Given the description of an element on the screen output the (x, y) to click on. 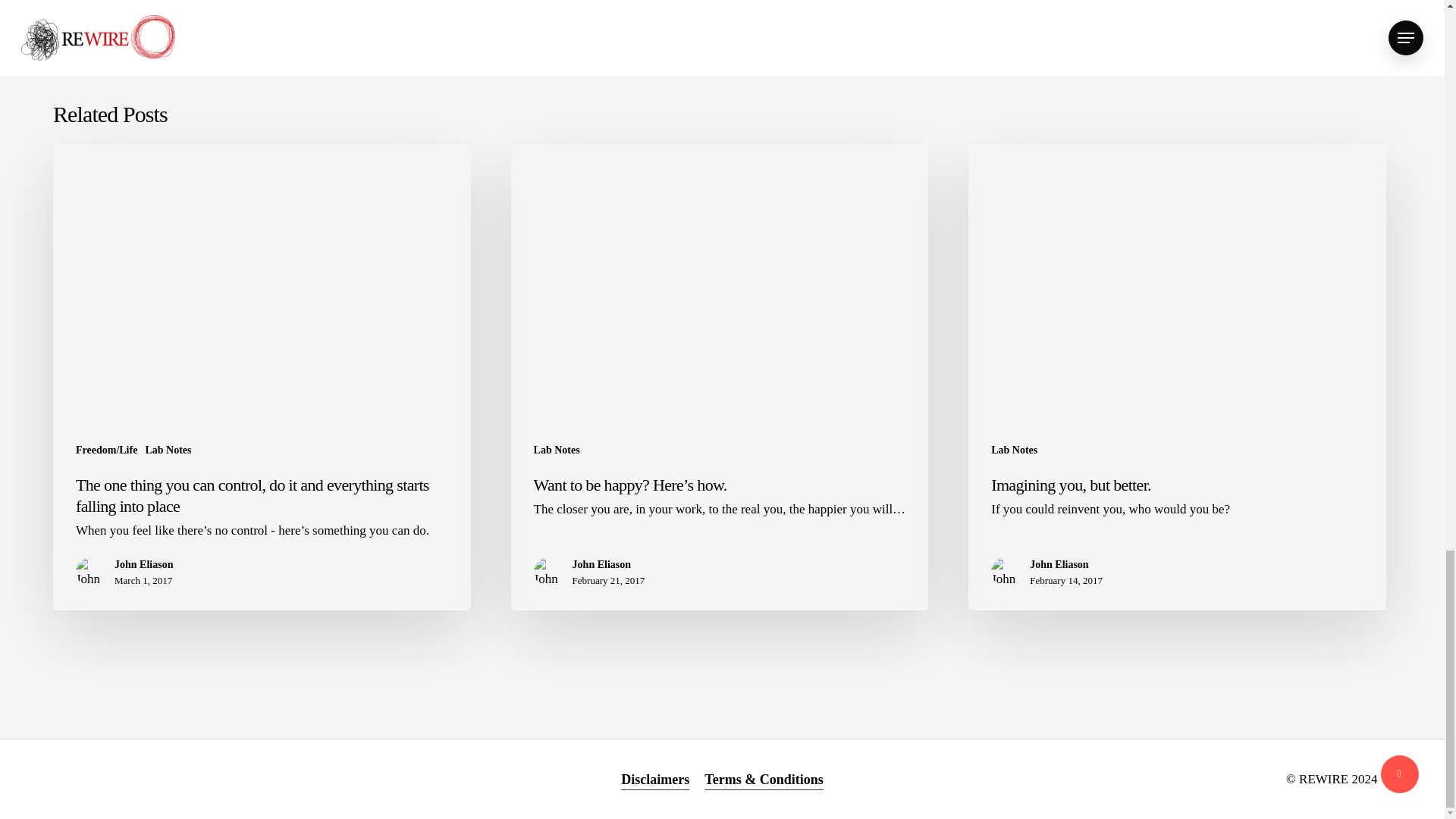
Lab Notes (167, 449)
Lab Notes (1013, 449)
John Eliason (1065, 565)
John Eliason (144, 565)
John Eliason (608, 565)
Lab Notes (556, 449)
Disclaimers (654, 779)
